Given the description of an element on the screen output the (x, y) to click on. 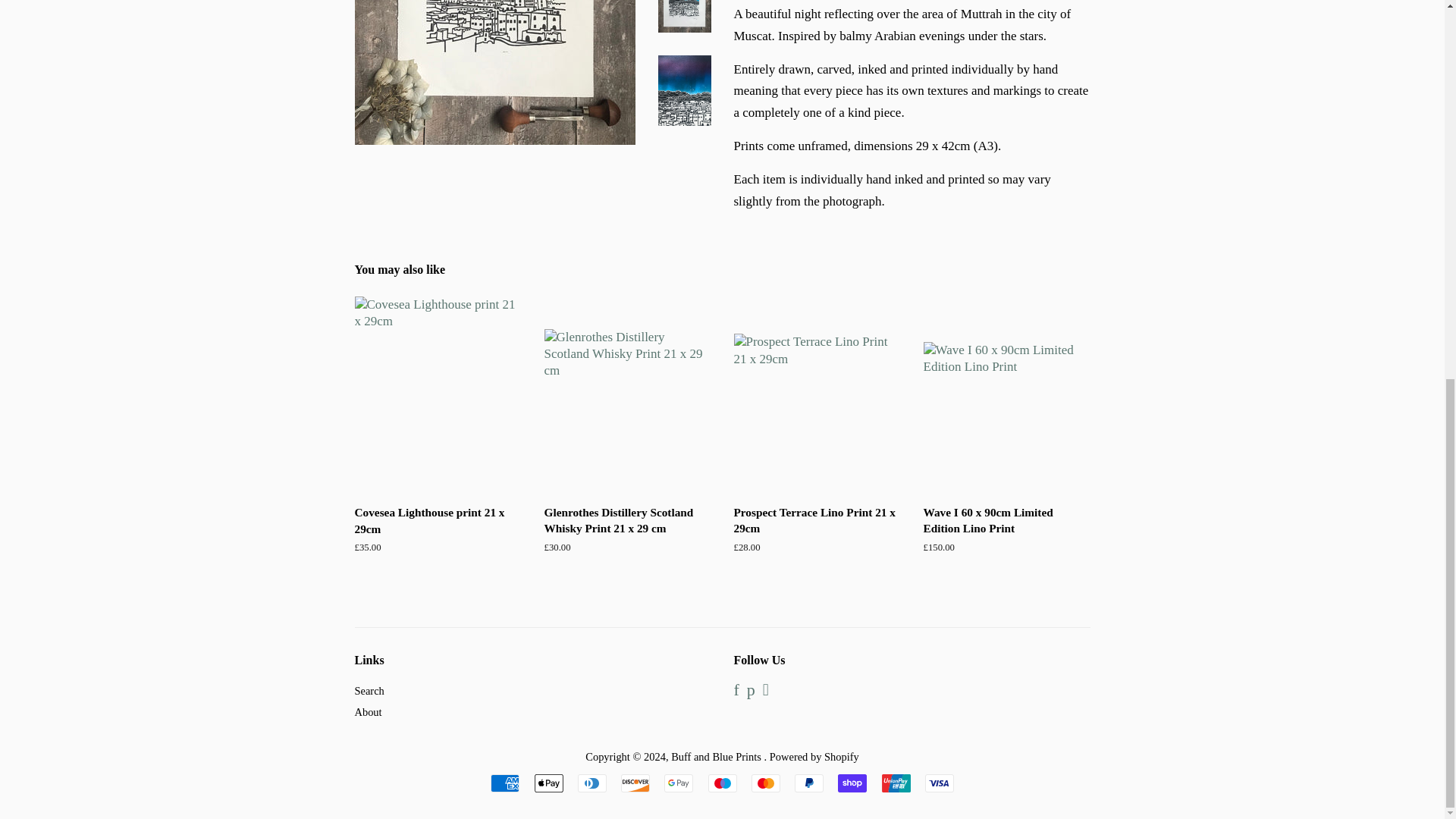
About (368, 711)
Search (369, 690)
Diners Club (592, 782)
Maestro (721, 782)
Union Pay (895, 782)
American Express (504, 782)
Powered by Shopify (814, 756)
Shop Pay (852, 782)
Visa (938, 782)
Apple Pay (548, 782)
